Given the description of an element on the screen output the (x, y) to click on. 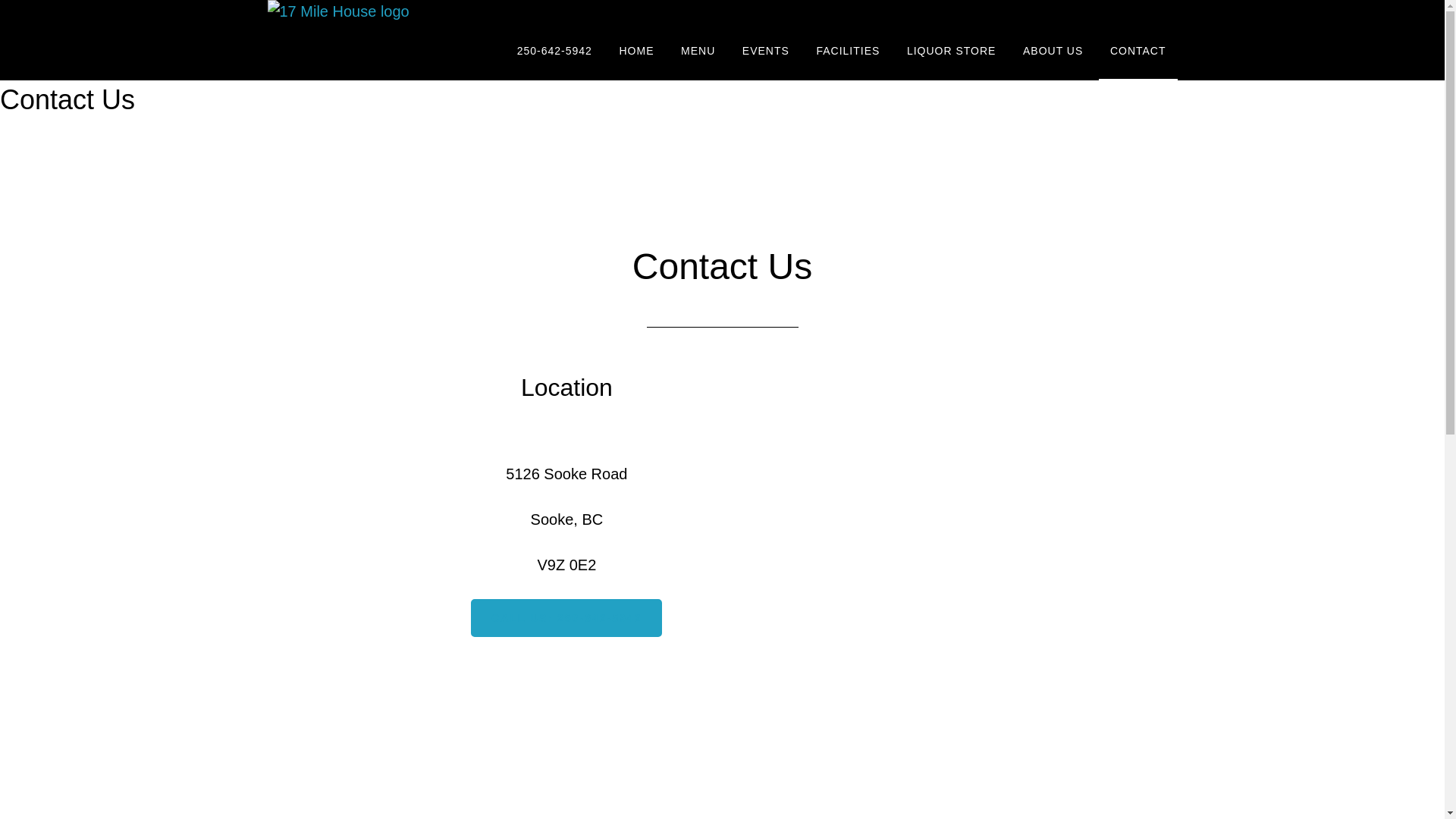
LIQUOR STORE Element type: text (951, 51)
HOME Element type: text (636, 51)
ABOUT US Element type: text (1052, 51)
CALL US: 250-642-5942 Element type: text (566, 618)
CONTACT Element type: text (1137, 51)
17 Mile House Element type: hover (337, 11)
FACILITIES Element type: text (847, 51)
250-642-5942 Element type: text (313, 11)
EVENTS Element type: text (765, 51)
MENU Element type: text (697, 51)
250-642-5942 Element type: text (554, 51)
CALL US: 250-642-5942 Element type: text (566, 617)
